Given the description of an element on the screen output the (x, y) to click on. 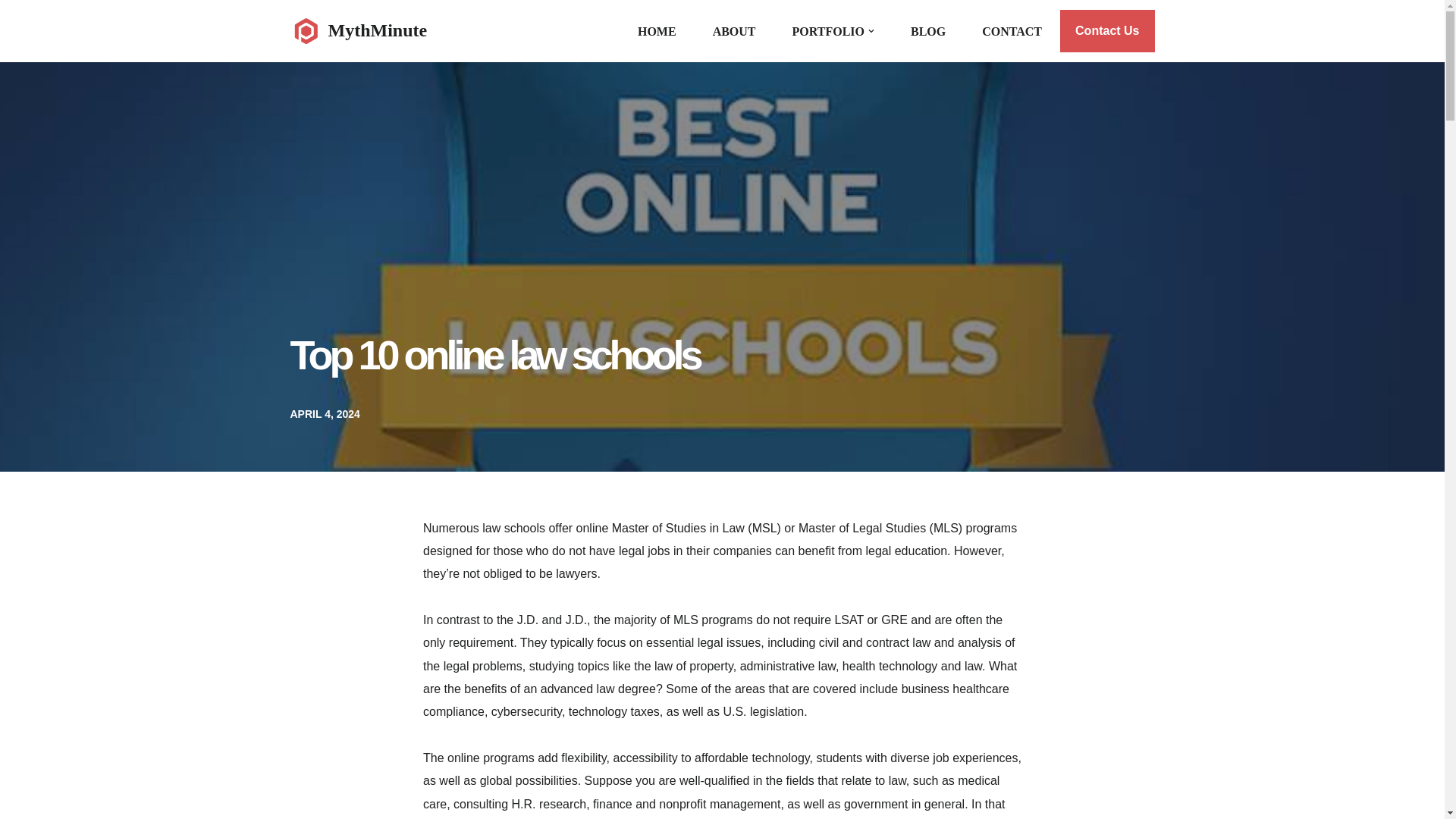
HOME (657, 31)
MythMinute (357, 30)
CONTACT (1011, 31)
BLOG (927, 31)
ABOUT (734, 31)
PORTFOLIO (828, 31)
Contact Us (1106, 30)
Skip to content (11, 31)
